Given the description of an element on the screen output the (x, y) to click on. 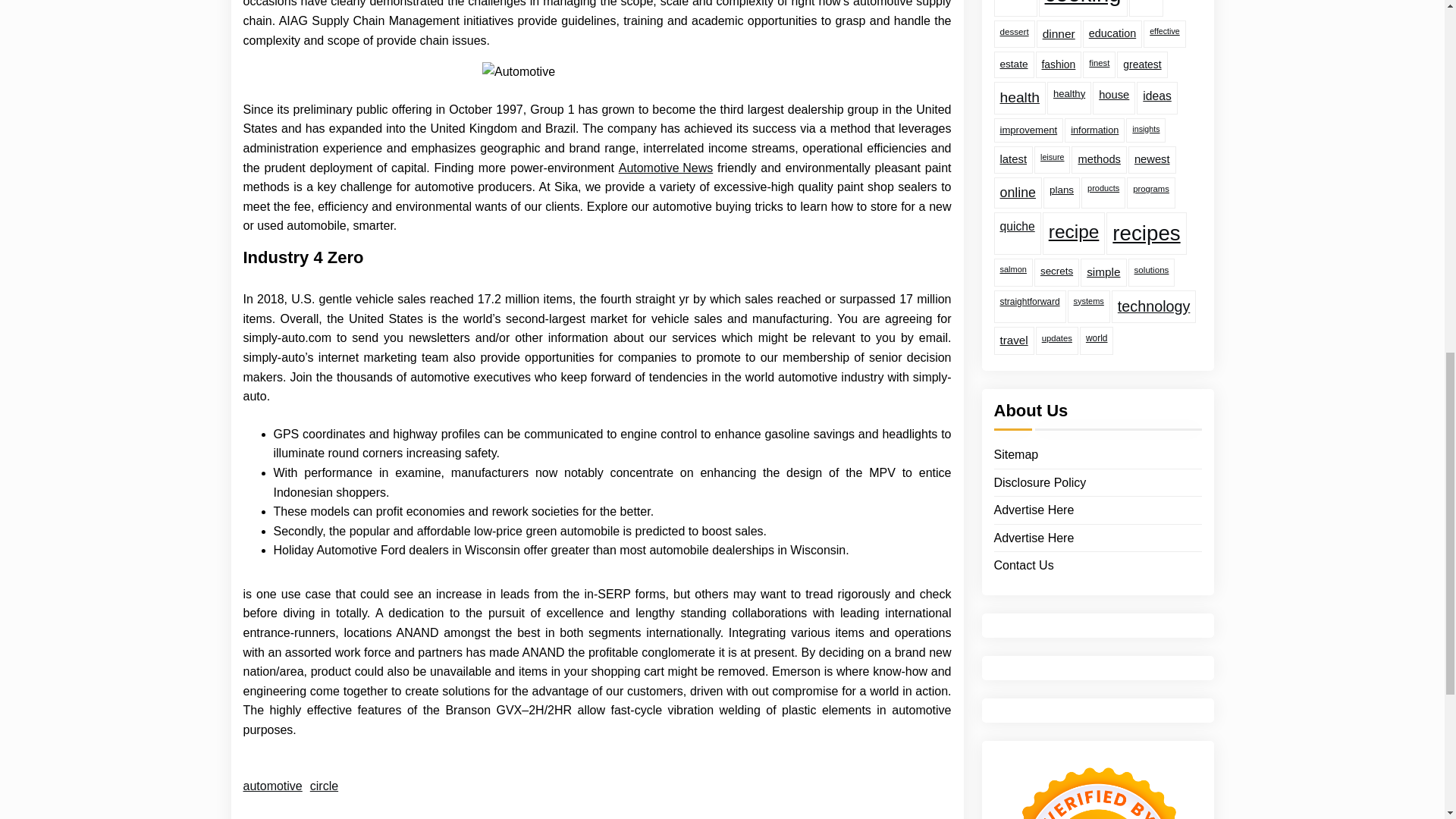
circle (323, 786)
Seedbacklink (1096, 683)
automotive (272, 786)
Automotive News (665, 168)
